Given the description of an element on the screen output the (x, y) to click on. 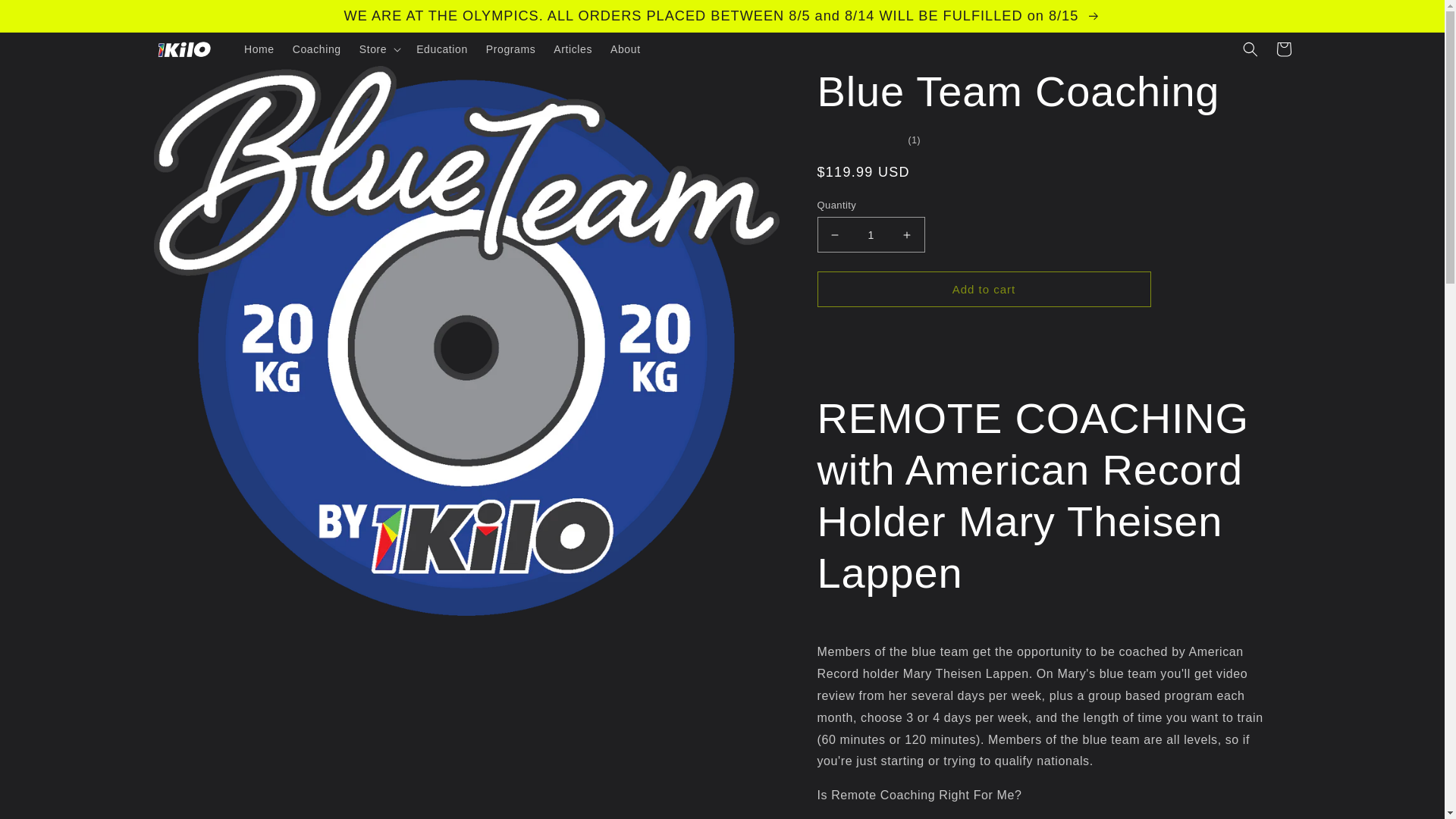
Home (258, 49)
Skip to content (45, 17)
Cart (1283, 49)
Programs (510, 49)
Articles (572, 49)
Skip to product information (199, 82)
Increase quantity for Blue Team Coaching (906, 234)
Education (442, 49)
About (625, 49)
Add to cart (983, 289)
